Given the description of an element on the screen output the (x, y) to click on. 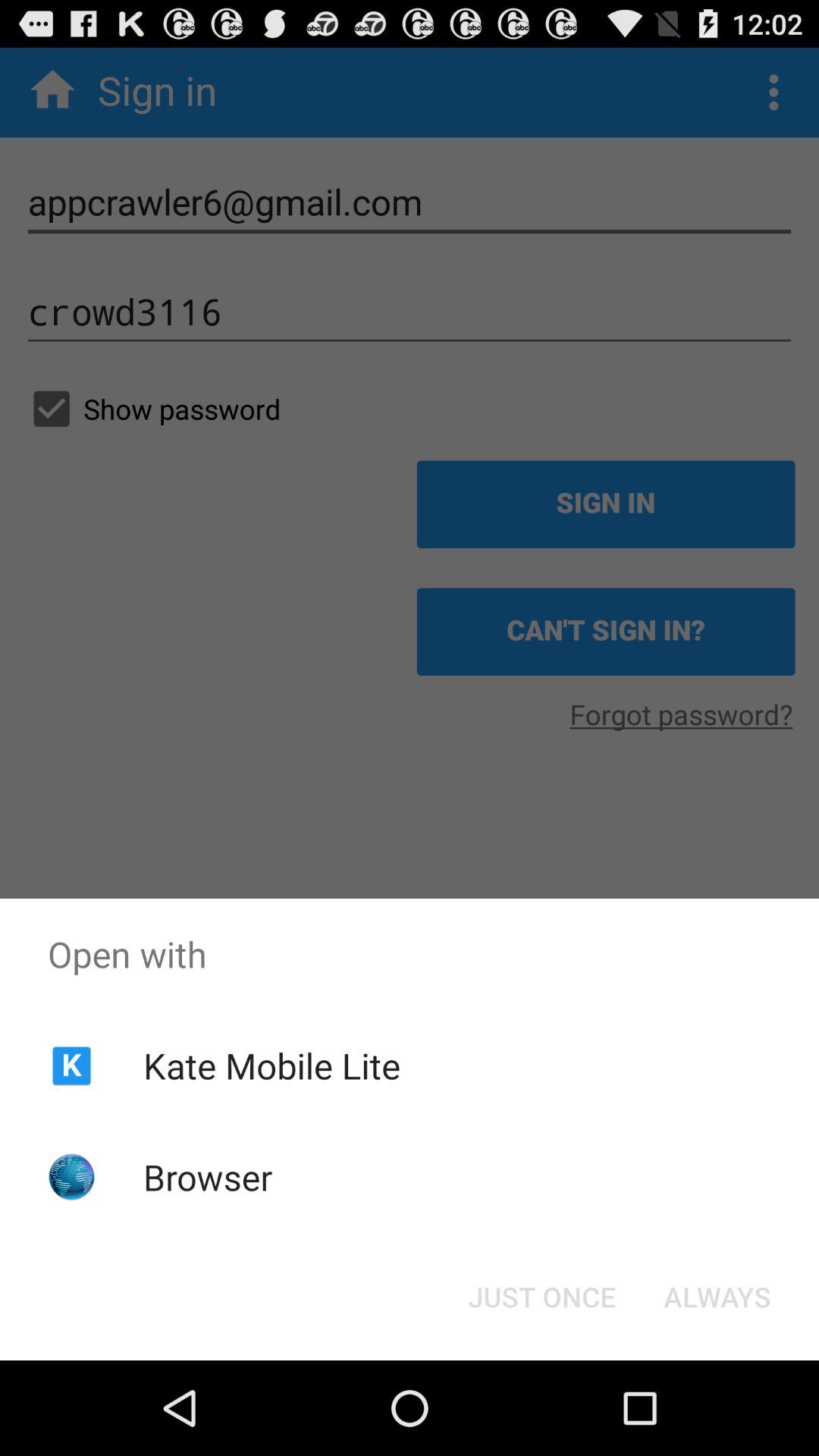
tap the icon next to always button (541, 1296)
